Given the description of an element on the screen output the (x, y) to click on. 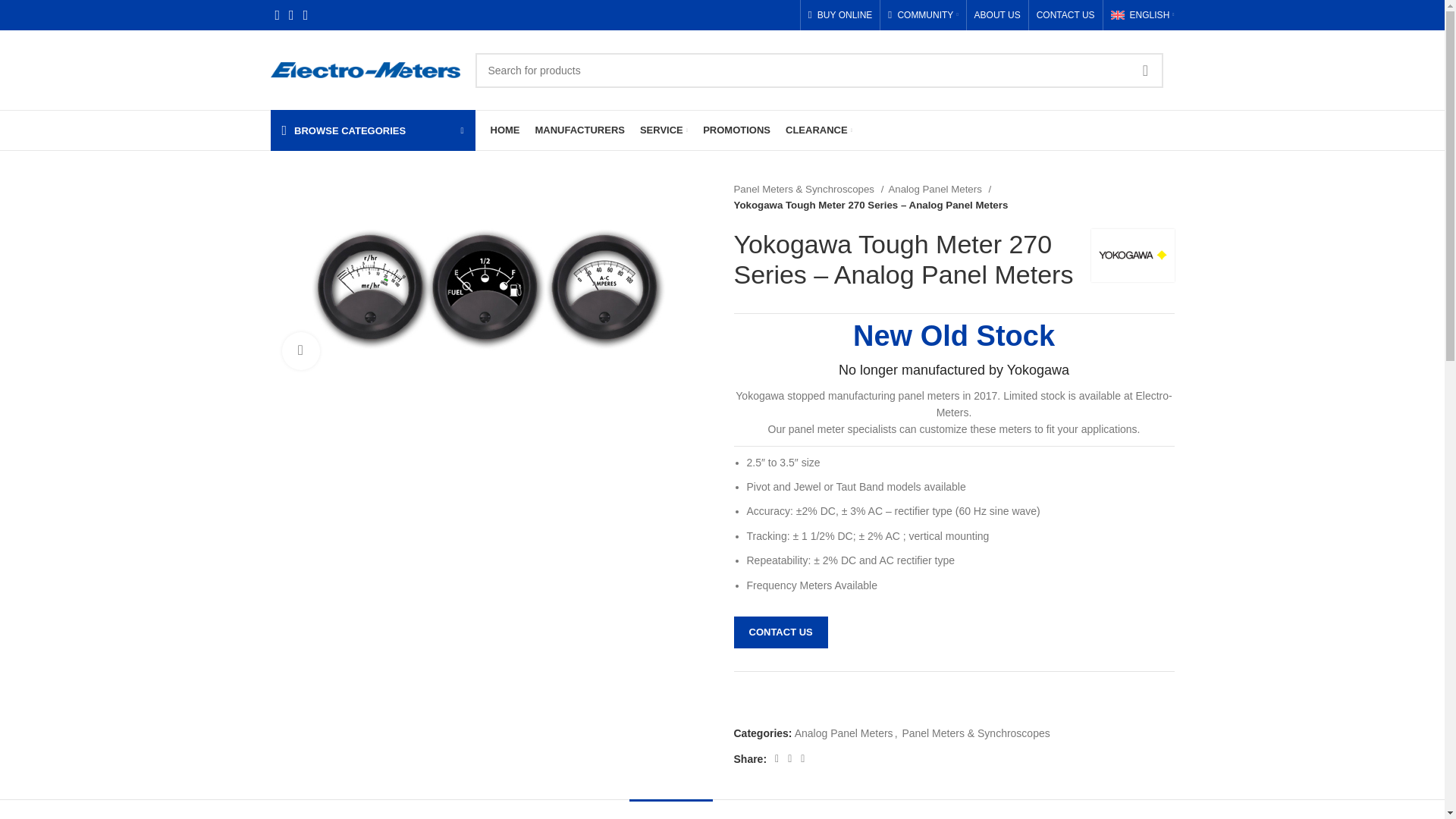
ABOUT US (997, 15)
ENGLISH (1142, 15)
Search for products (817, 70)
CONTACT US (1065, 15)
COMMUNITY (923, 15)
CPY Document (490, 280)
BUY ONLINE (840, 15)
SEARCH (1145, 70)
Yokogawa (1131, 255)
